Given the description of an element on the screen output the (x, y) to click on. 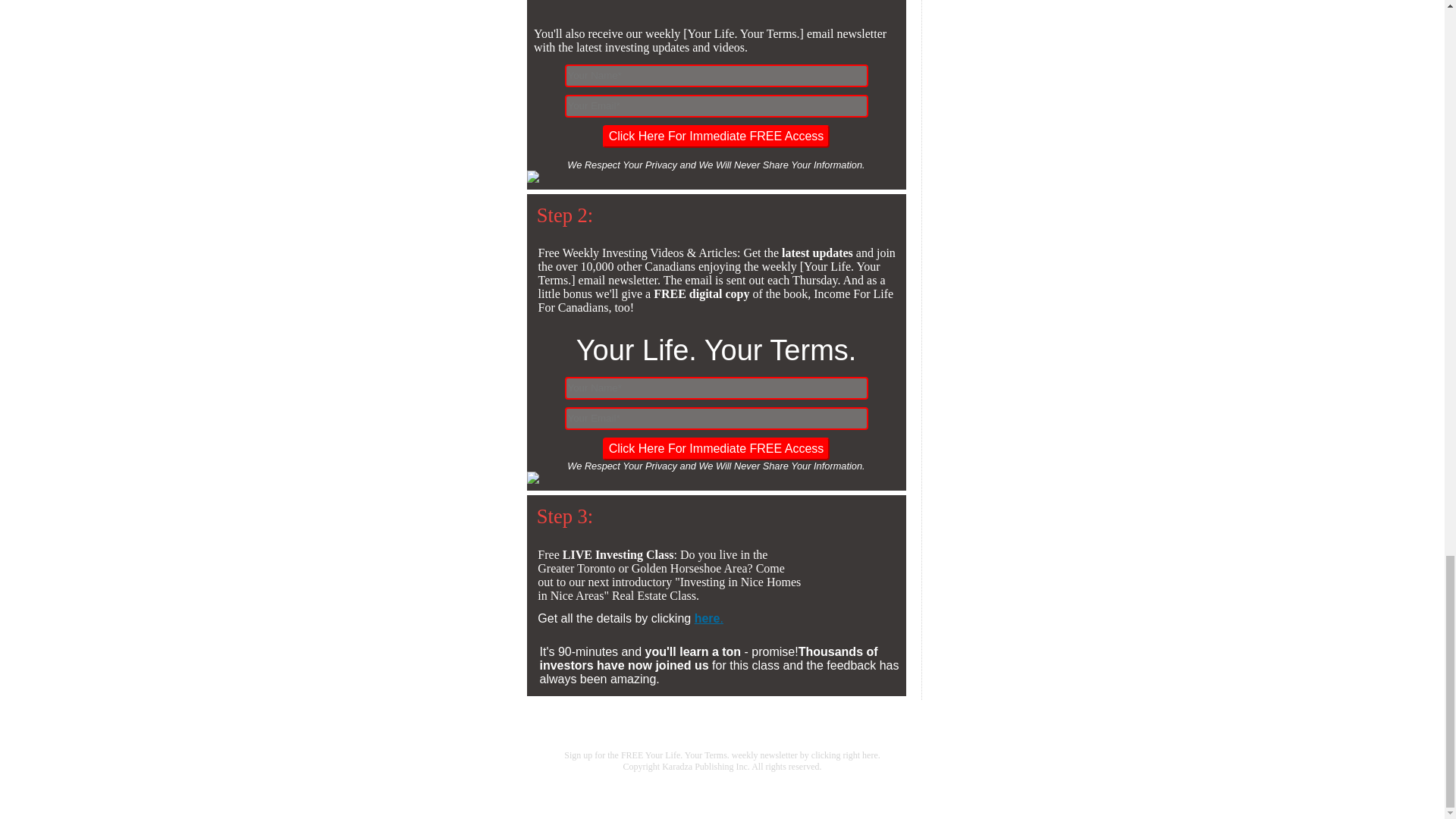
Click Here For Immediate FREE Access (715, 136)
Click Here For Immediate FREE Access (715, 136)
Click Here For Immediate FREE Access (715, 448)
Click Here For Immediate FREE Access (715, 448)
here (707, 617)
